Given the description of an element on the screen output the (x, y) to click on. 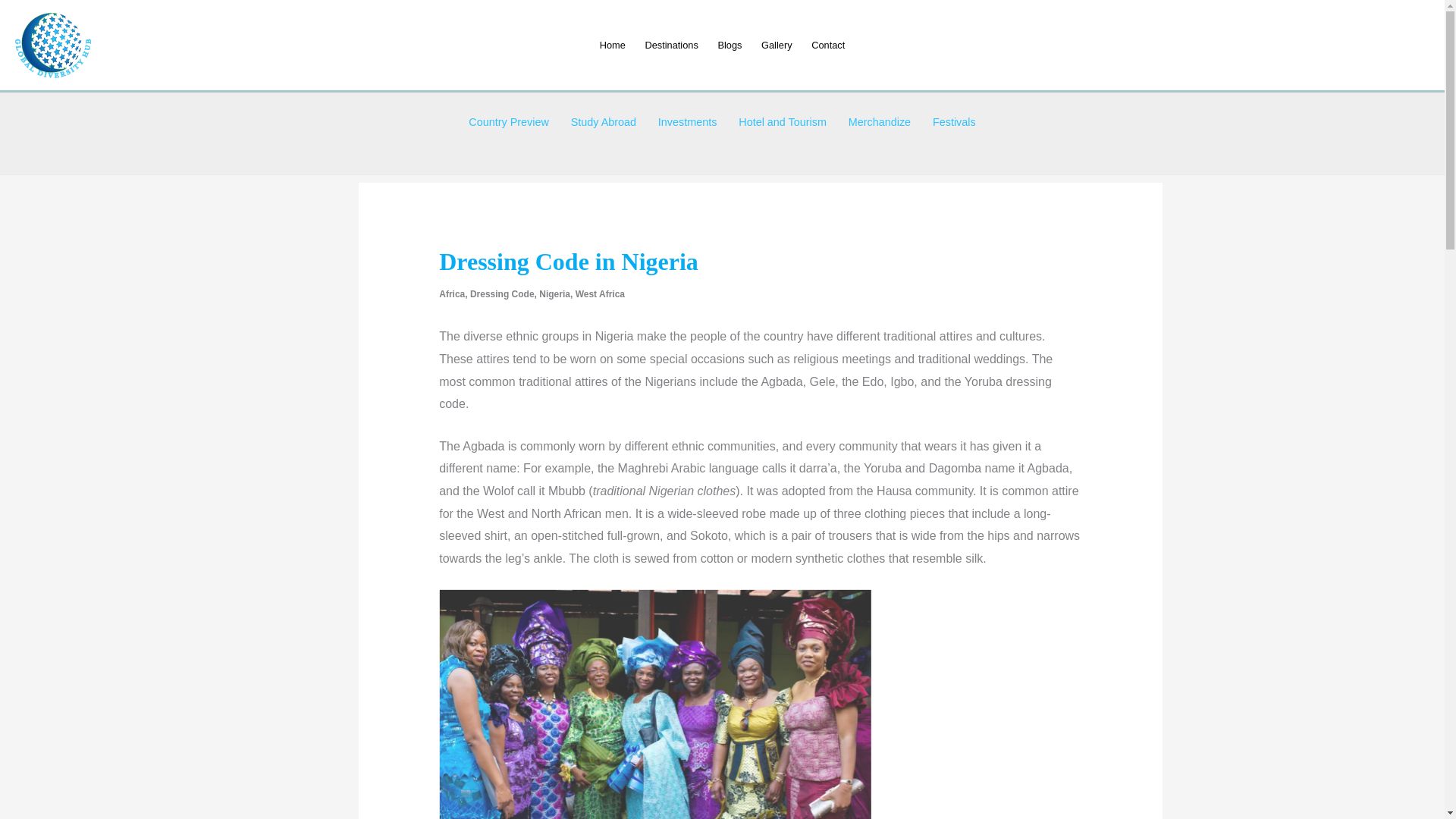
Home (611, 44)
Destinations (670, 44)
